Given the description of an element on the screen output the (x, y) to click on. 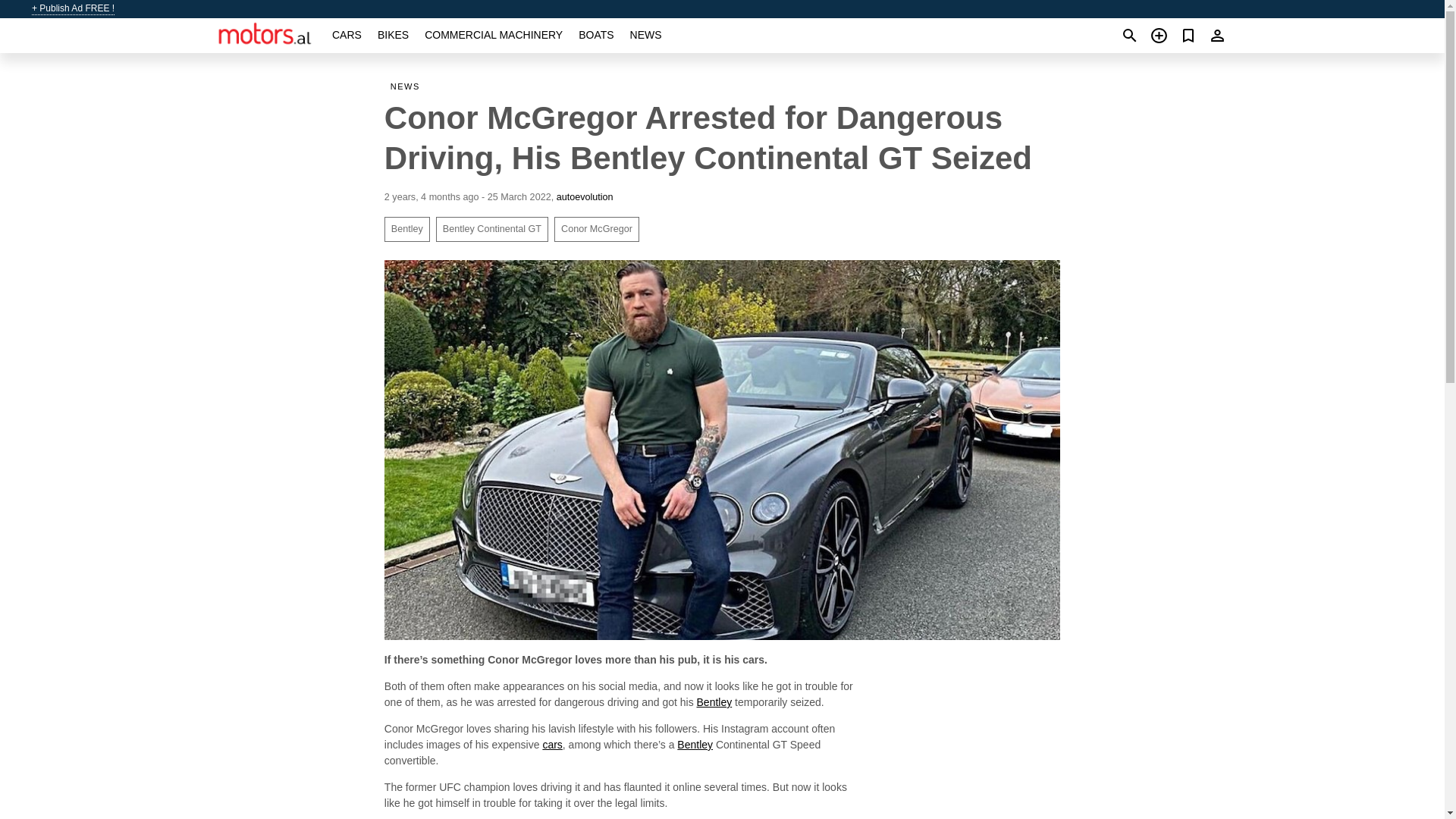
BOATS (595, 35)
Bentley (695, 744)
NEWS (646, 35)
NEWS (408, 86)
Conor McGregor (596, 229)
Bentley (406, 229)
CARS (346, 35)
USED CARS FOR SALE IN ALBANIA (551, 744)
all about Bentley in Albania (714, 702)
COMMERCIAL MACHINERY (493, 35)
cars (551, 744)
Bentley (714, 702)
autoevolution (584, 196)
Bentley Continental GT (491, 229)
Bentley in Albania (695, 744)
